Given the description of an element on the screen output the (x, y) to click on. 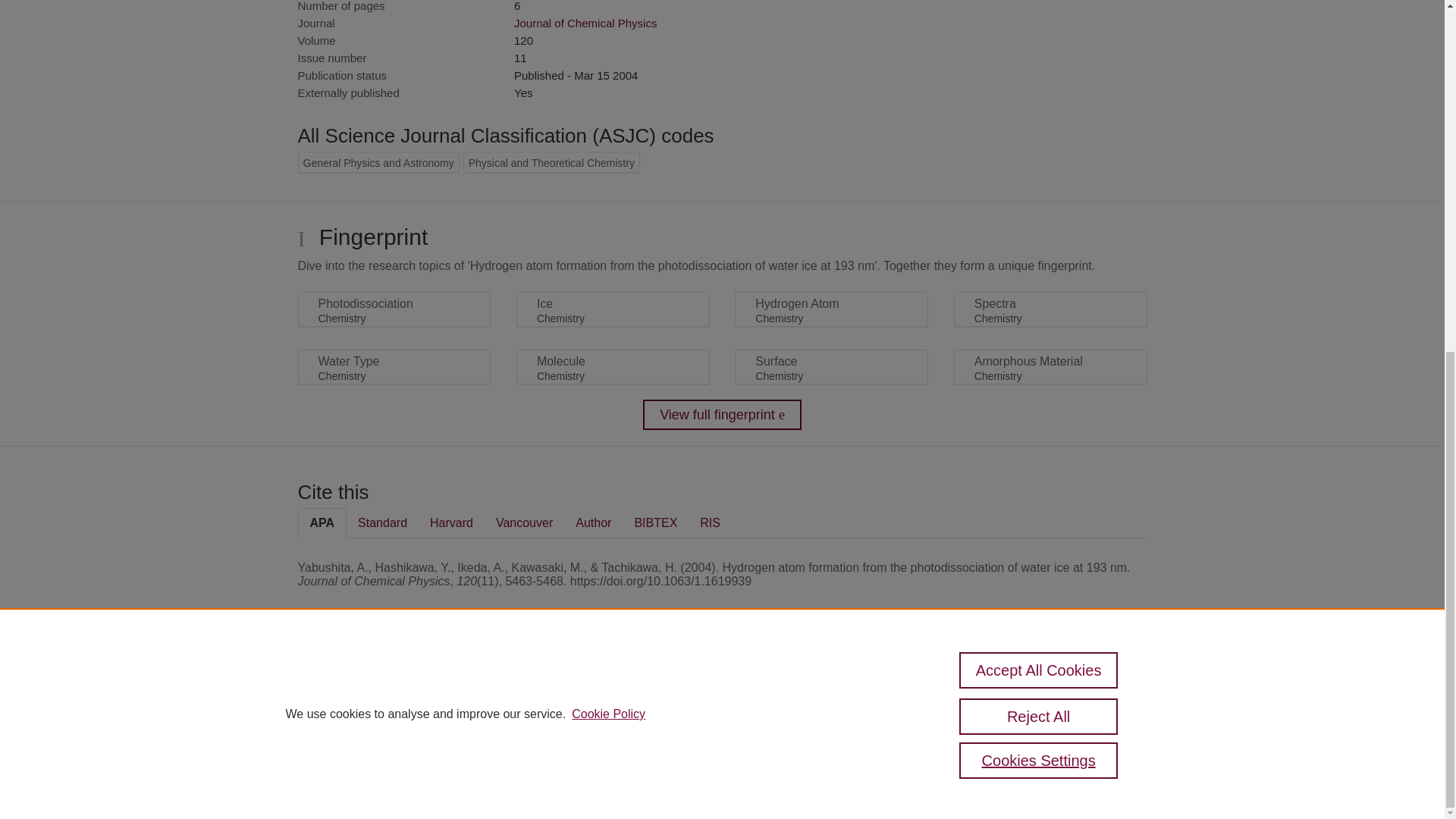
View full fingerprint (722, 414)
use of cookies (796, 739)
Elsevier B.V. (506, 707)
Journal of Chemical Physics (584, 22)
Pure (362, 686)
Scopus (394, 686)
